Given the description of an element on the screen output the (x, y) to click on. 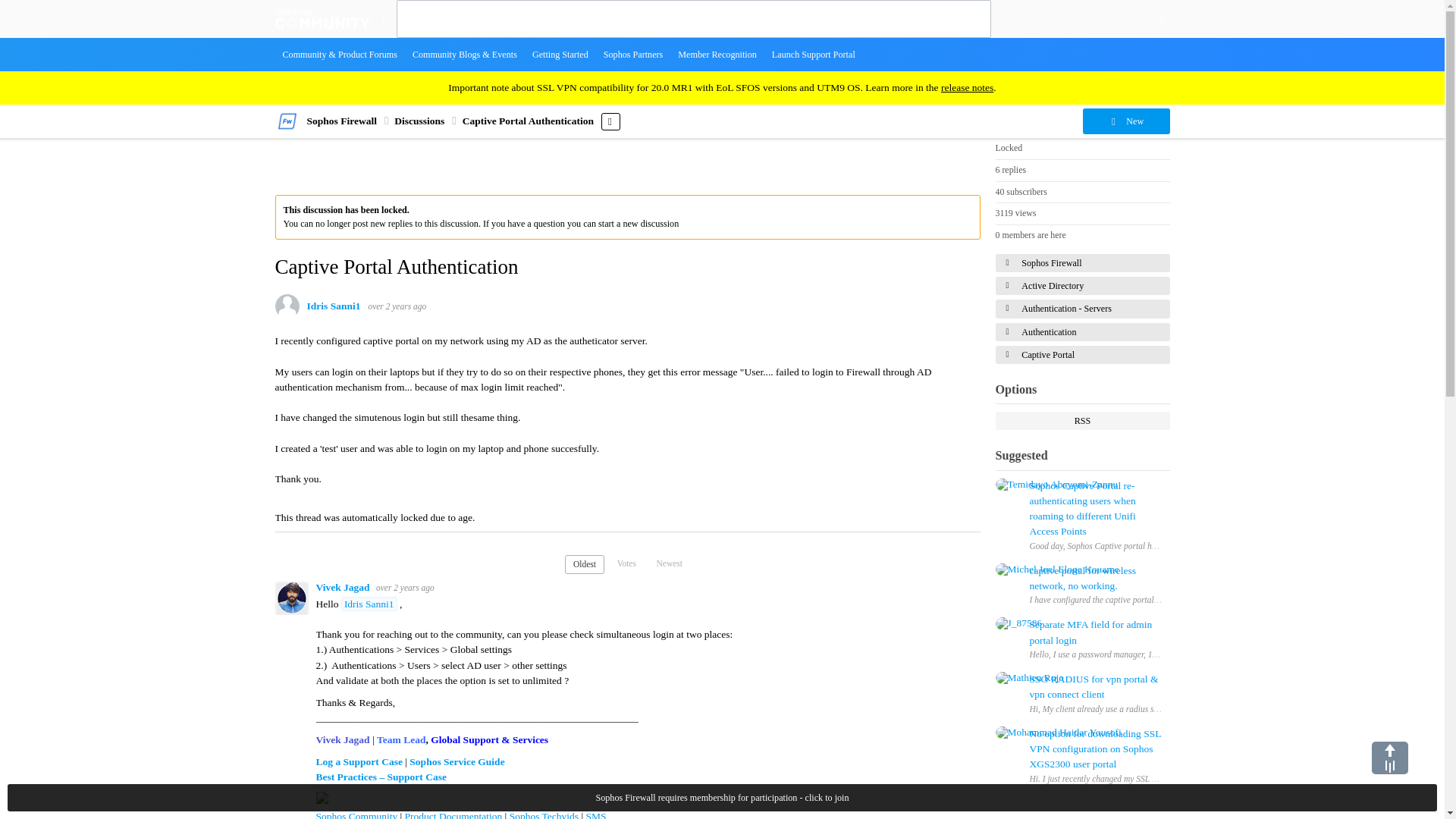
Discussions (419, 120)
User (1161, 17)
Site (384, 18)
Sophos Partners (633, 54)
Getting Started (559, 54)
Groups (384, 18)
Captive Portal Authentication (528, 120)
release notes (966, 87)
Home (322, 18)
Launch Support Portal (813, 54)
Sophos Firewall (340, 120)
Join or sign in (1161, 17)
Member Recognition (716, 54)
